Given the description of an element on the screen output the (x, y) to click on. 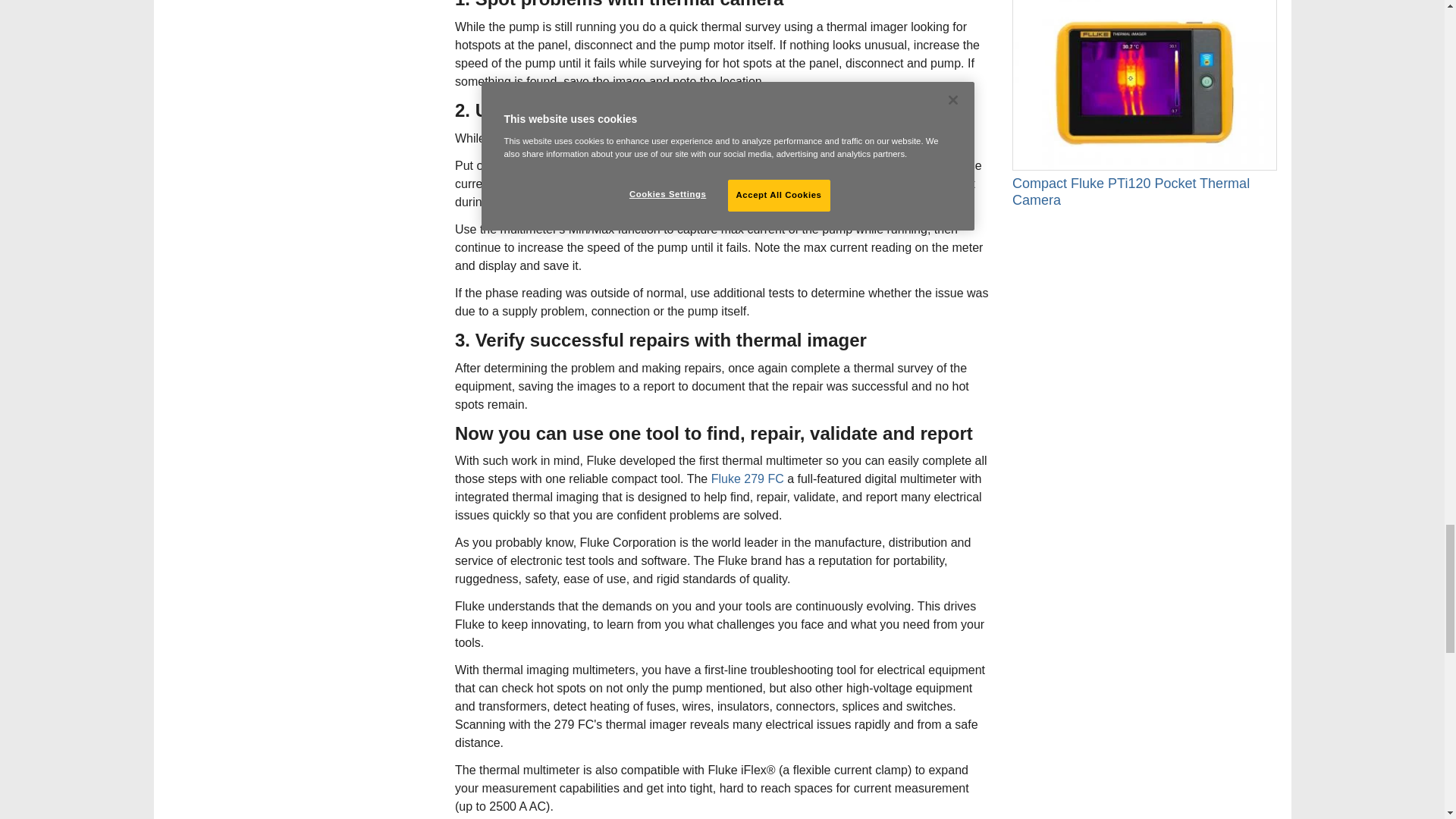
Pocket Thermal Imager back view with thermal image displayed (1143, 85)
